Given the description of an element on the screen output the (x, y) to click on. 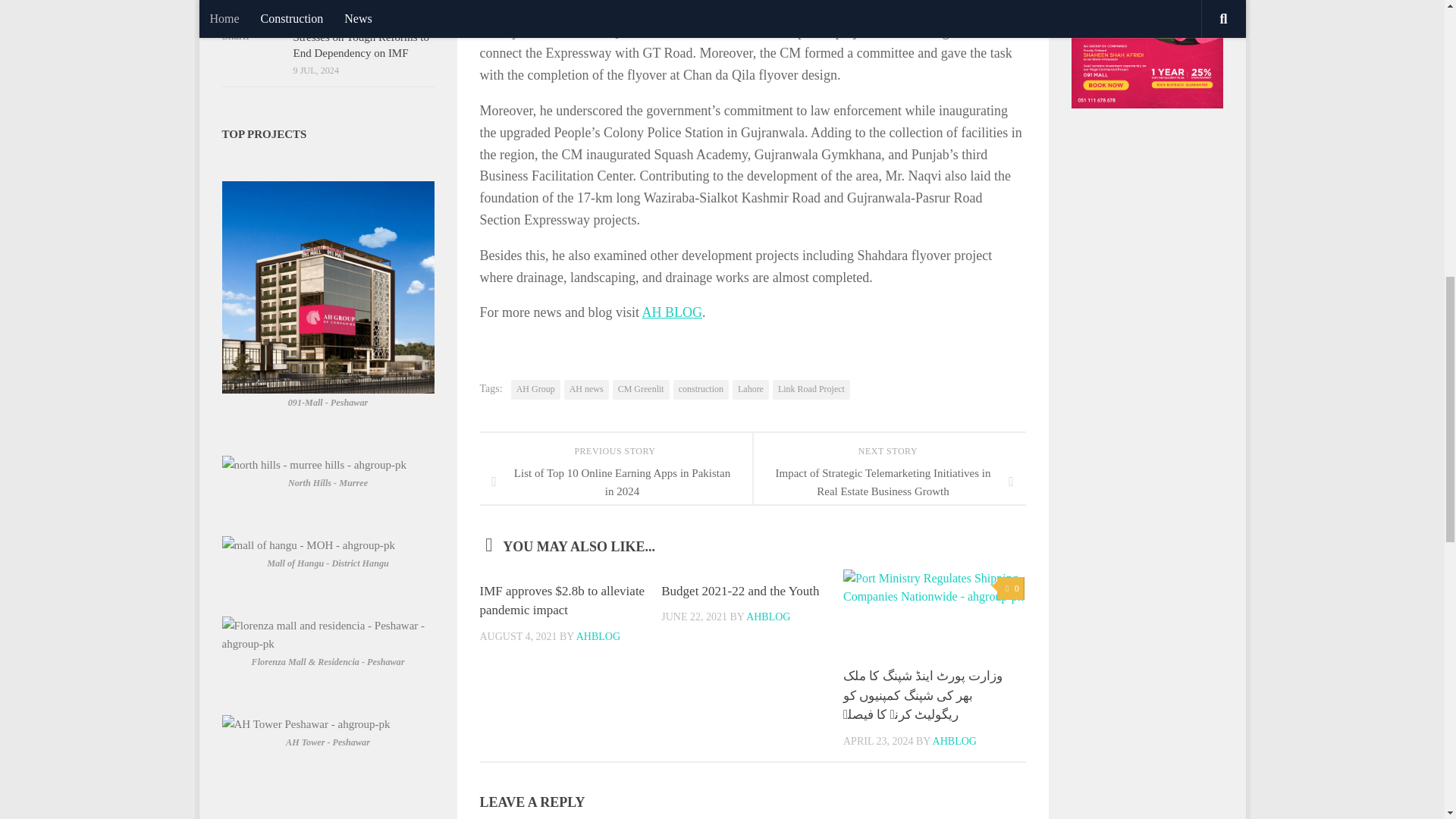
AH news (586, 389)
List of Top 10 Online Earning Apps in Pakistan in 2024 (615, 482)
CM Greenlit (640, 389)
Budget 2021-22 and the Youth (739, 590)
Link Road Project (811, 389)
AH Group (535, 389)
AH BLOG (671, 312)
Posts by ahblog (767, 616)
AHBLOG (598, 636)
Lahore (750, 389)
Posts by ahblog (954, 740)
Posts by ahblog (598, 636)
0 (1010, 588)
construction (700, 389)
